Given the description of an element on the screen output the (x, y) to click on. 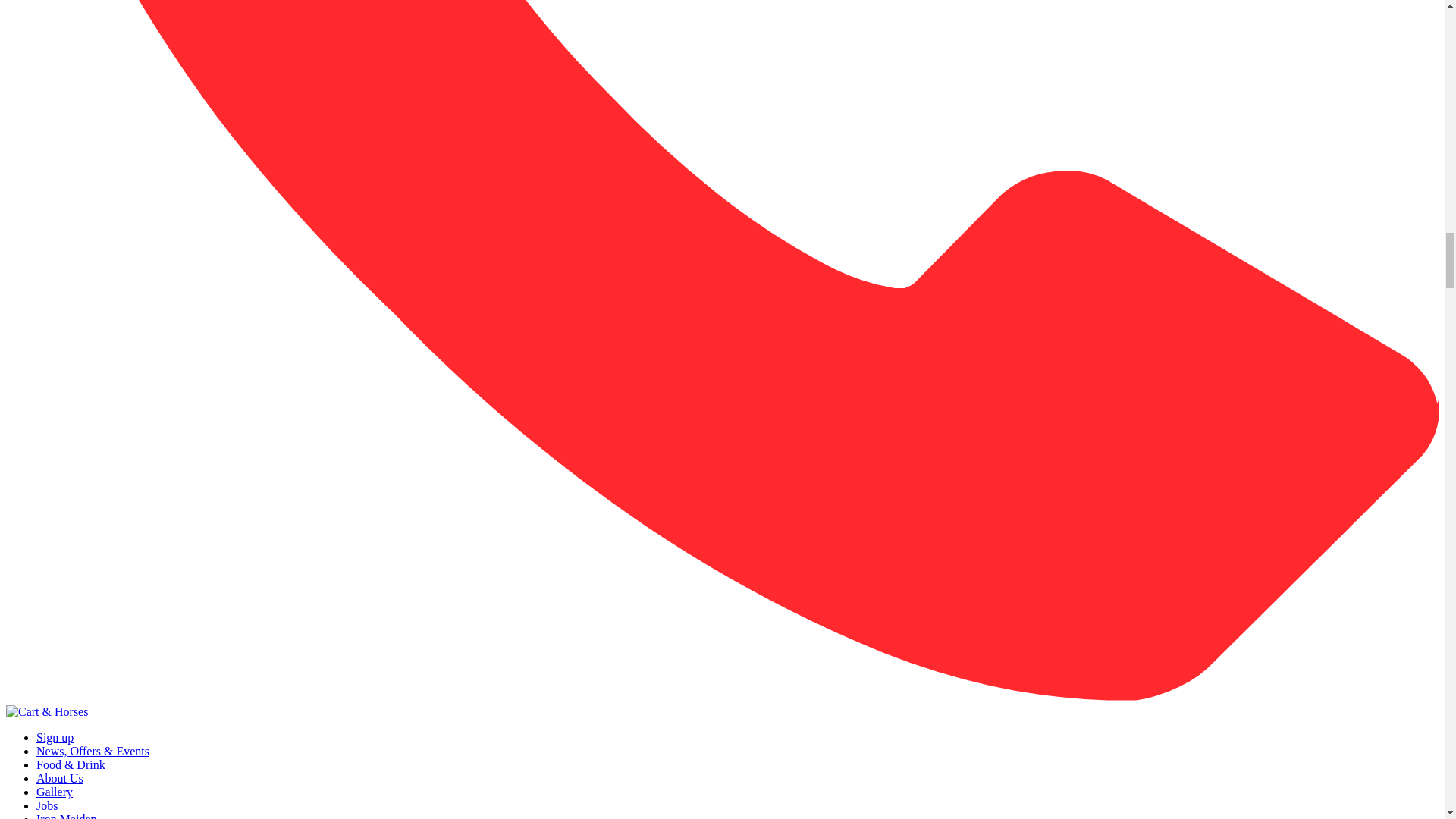
Iron Maiden (66, 816)
Sign up (55, 737)
Gallery (54, 791)
Jobs (47, 805)
About Us (59, 778)
